Given the description of an element on the screen output the (x, y) to click on. 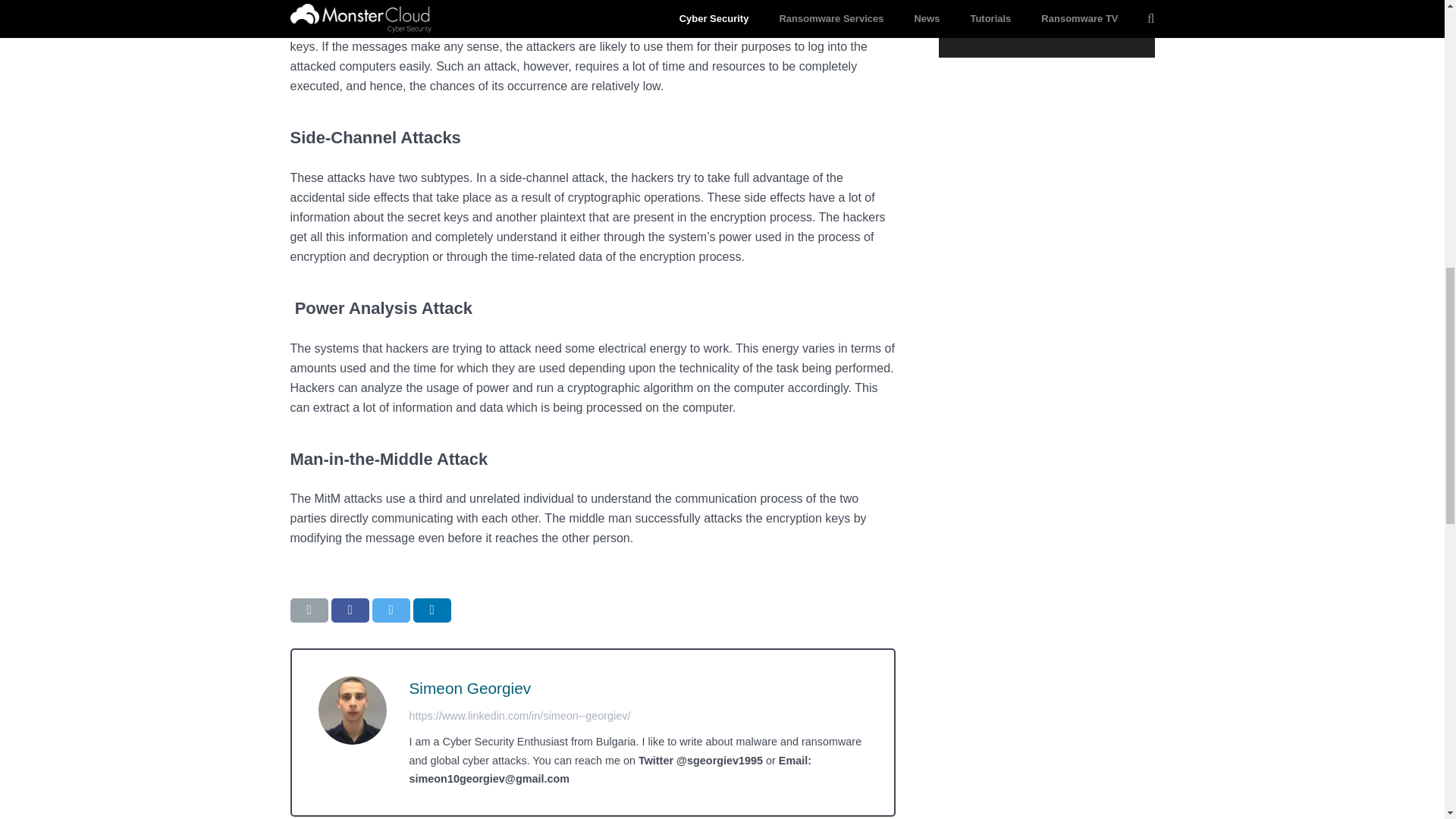
Email this (308, 610)
Simeon Georgiev (470, 687)
Share this (430, 610)
Tweet this (390, 610)
Back to top (1413, 22)
ransomware removal (699, 6)
Sign Up Now (1046, 17)
Share this (349, 610)
